Given the description of an element on the screen output the (x, y) to click on. 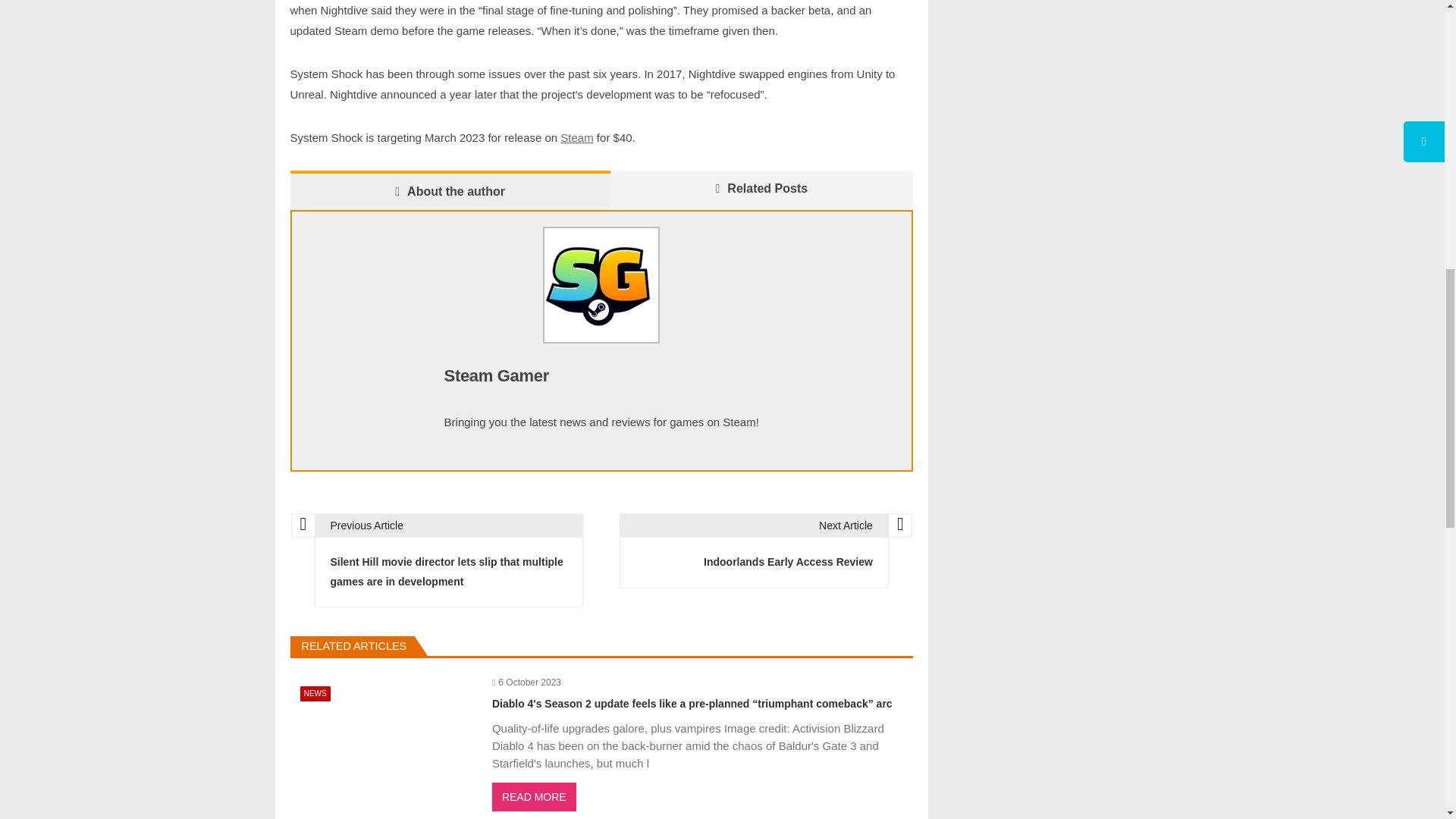
Steam Gamer (496, 375)
Steam (576, 137)
